Given the description of an element on the screen output the (x, y) to click on. 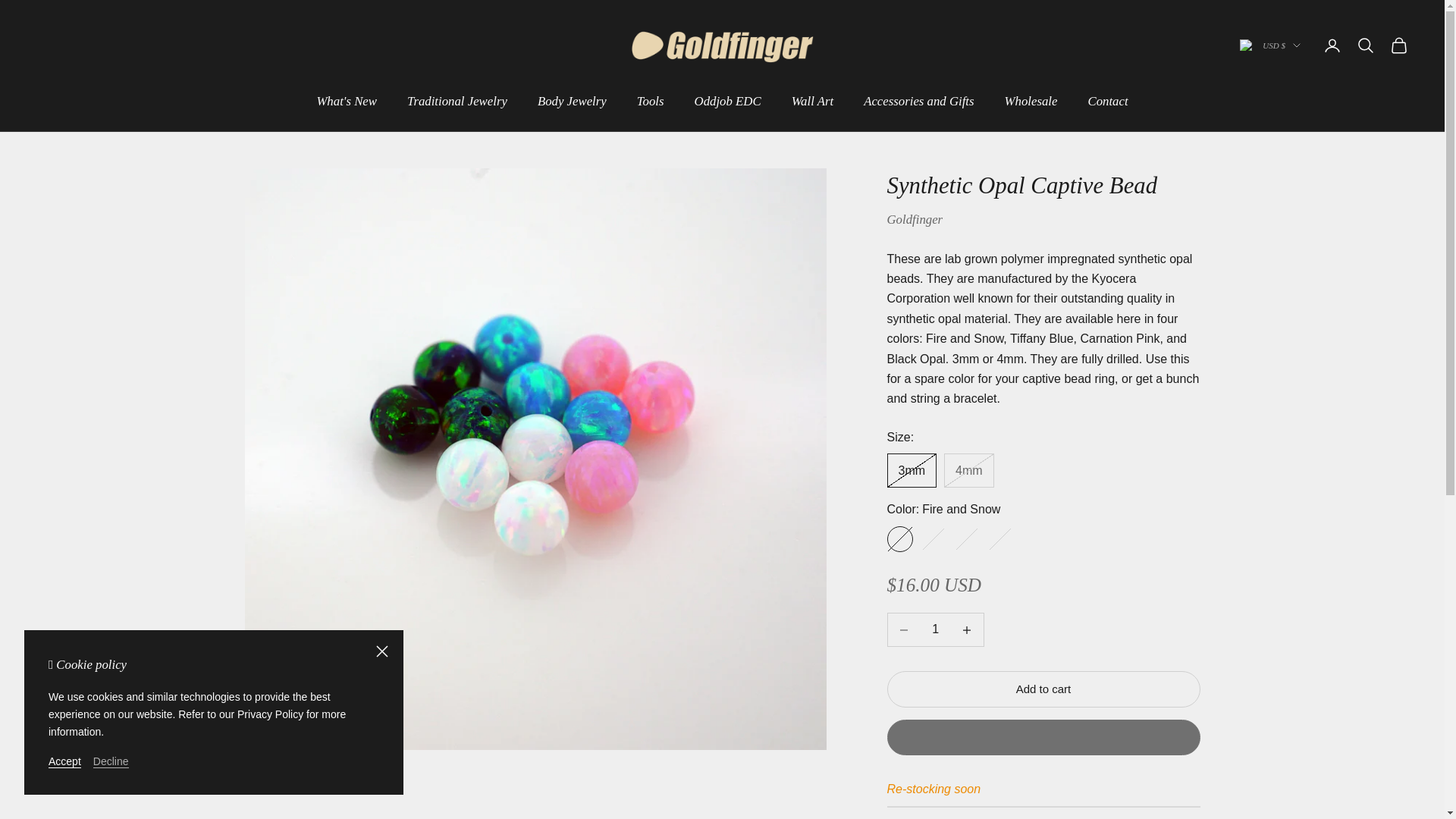
What's New (346, 101)
1 (935, 629)
Contact (1106, 101)
Oddjob EDC (727, 101)
Goldfinger (721, 45)
